Given the description of an element on the screen output the (x, y) to click on. 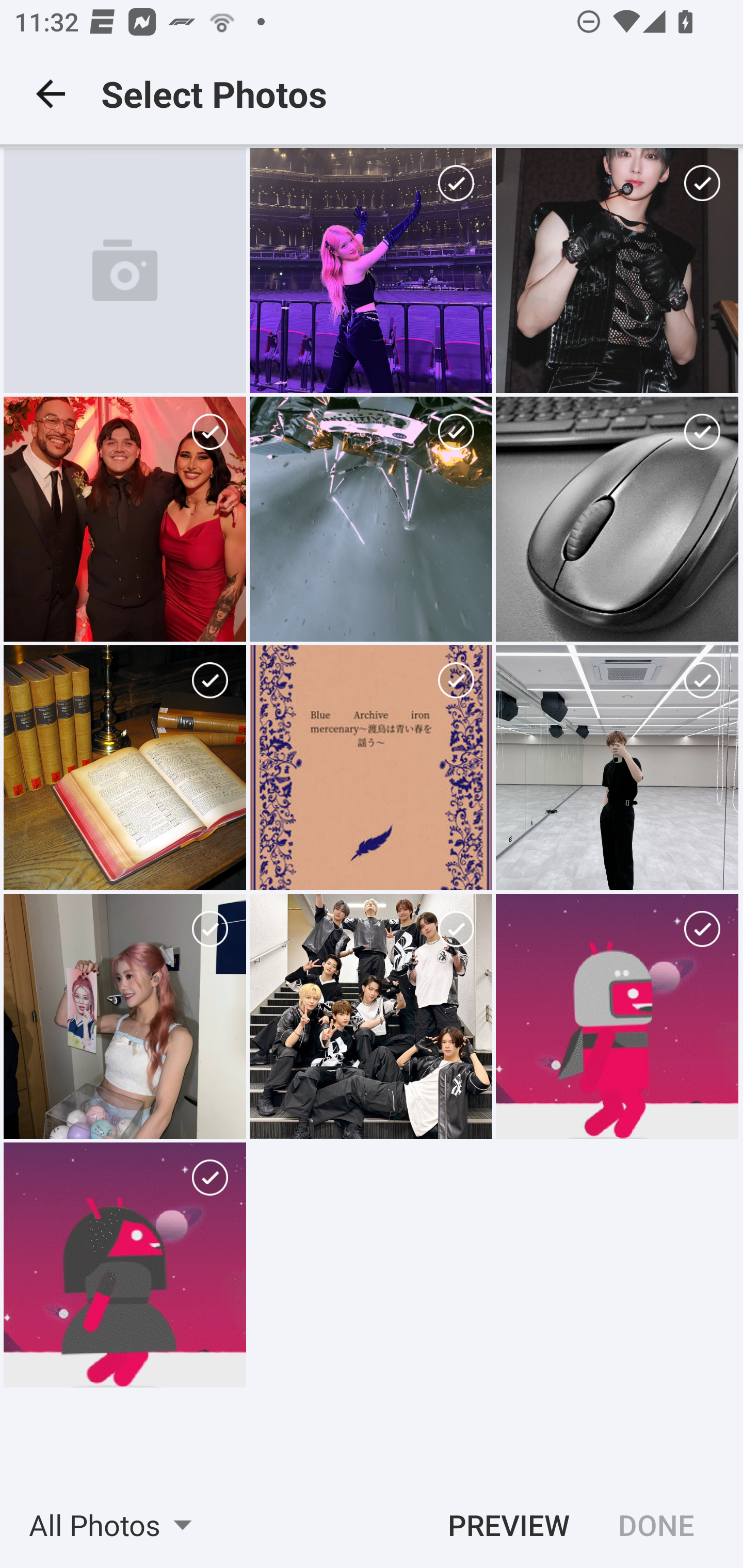
All Photos (116, 1524)
PREVIEW (501, 1524)
DONE (663, 1524)
